Given the description of an element on the screen output the (x, y) to click on. 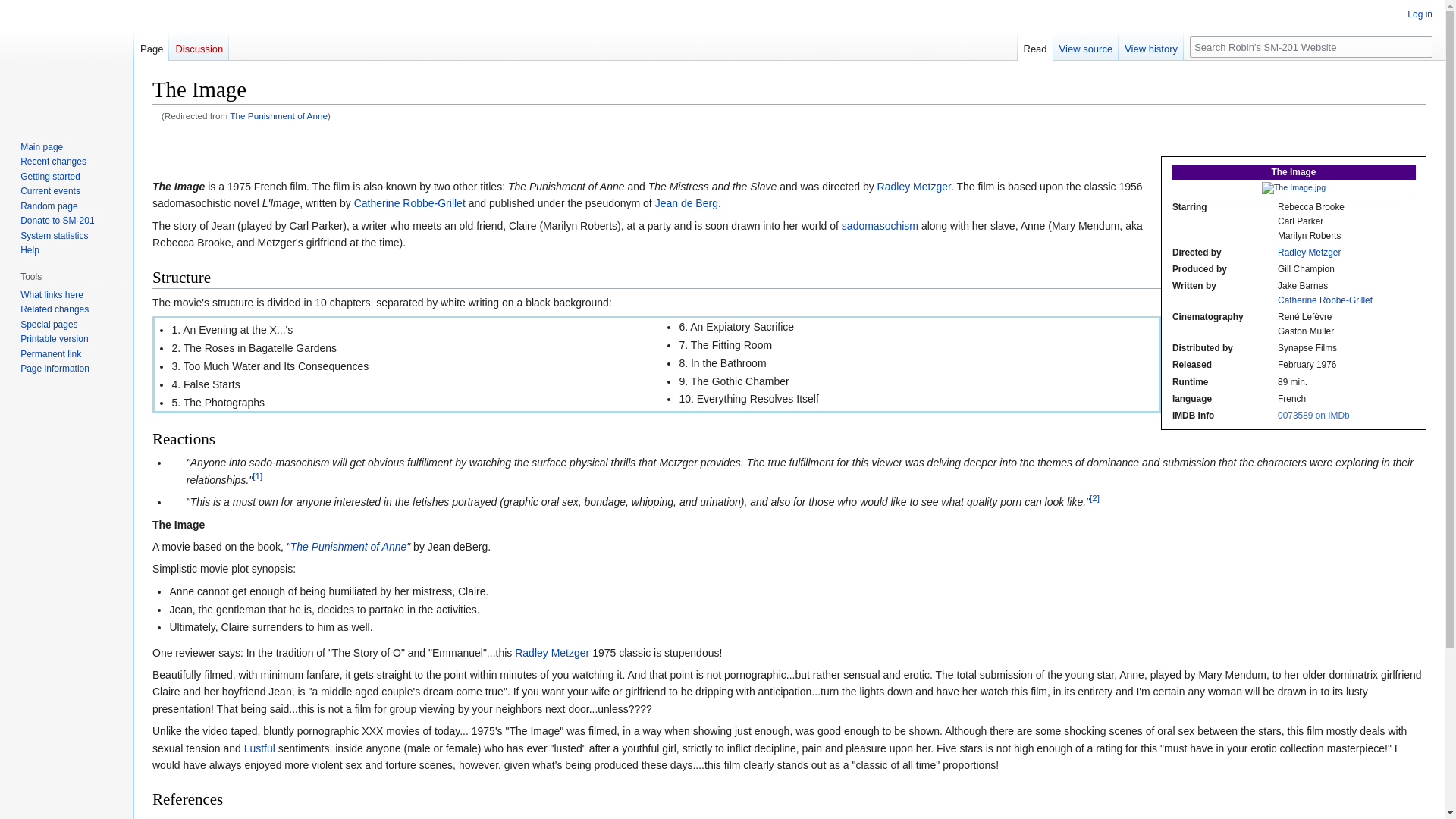
girlsgunsandghouls.com (328, 818)
Jean de Berg (686, 203)
Lustful (259, 747)
Catherine Robbe-Grillet (1325, 299)
Jean de Berg (686, 203)
Go (1420, 46)
Radley Metzger (1309, 252)
Log in (1419, 14)
Catherine Robbe-Grillet (409, 203)
Catherine Robbe-Grillet (1325, 299)
Radley Metzger (913, 186)
The Punishment of Anne (348, 546)
Radley Metzger (1309, 252)
The Punishment of Anne (348, 546)
